Given the description of an element on the screen output the (x, y) to click on. 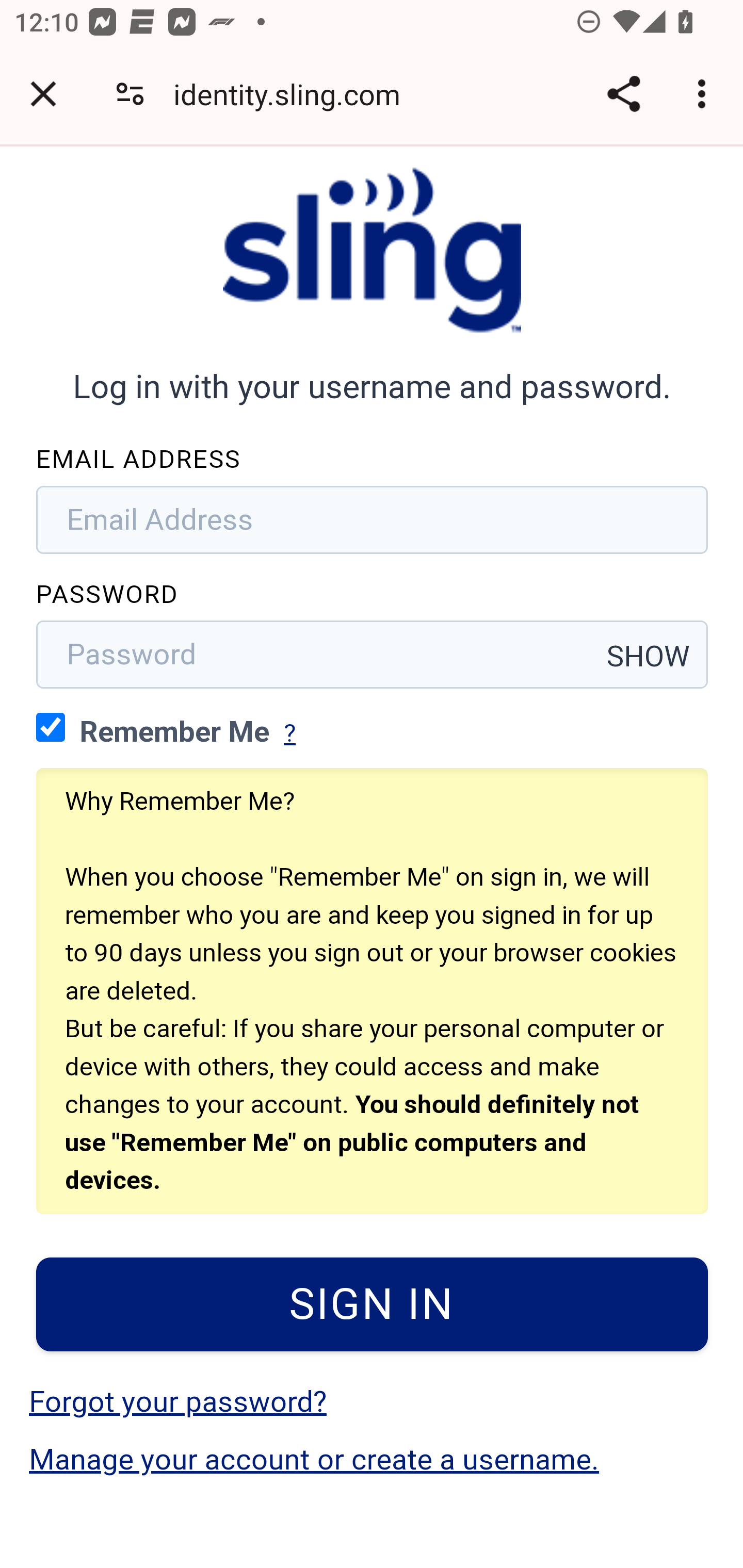
Close tab (43, 93)
Share (623, 93)
Customize and control Google Chrome (705, 93)
Connection is secure (129, 93)
identity.sling.com (294, 93)
SHOW (649, 655)
Remember Me (50, 726)
? (289, 732)
SIGN IN (372, 1303)
Forgot your password? (177, 1401)
Manage your account or create a username. (313, 1459)
